Given the description of an element on the screen output the (x, y) to click on. 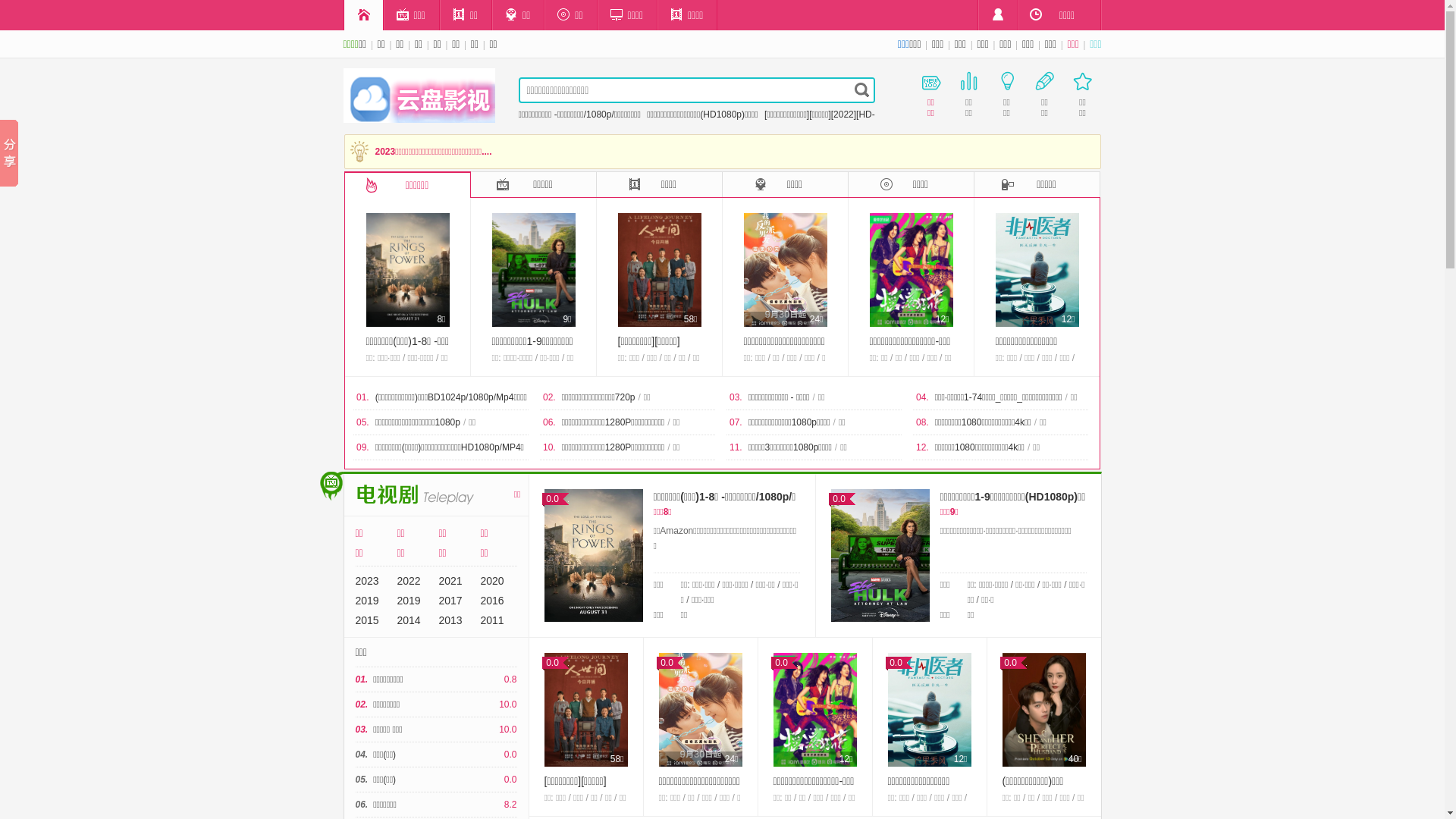
2015 Element type: text (366, 620)
0.0 Element type: text (880, 555)
2019 Element type: text (408, 600)
2020 Element type: text (492, 580)
2014 Element type: text (408, 620)
2019 Element type: text (366, 600)
2021 Element type: text (449, 580)
2016 Element type: text (492, 600)
2022 Element type: text (408, 580)
2017 Element type: text (449, 600)
0.0 Element type: text (593, 555)
2023 Element type: text (366, 580)
2011 Element type: text (492, 620)
2013 Element type: text (449, 620)
